Given the description of an element on the screen output the (x, y) to click on. 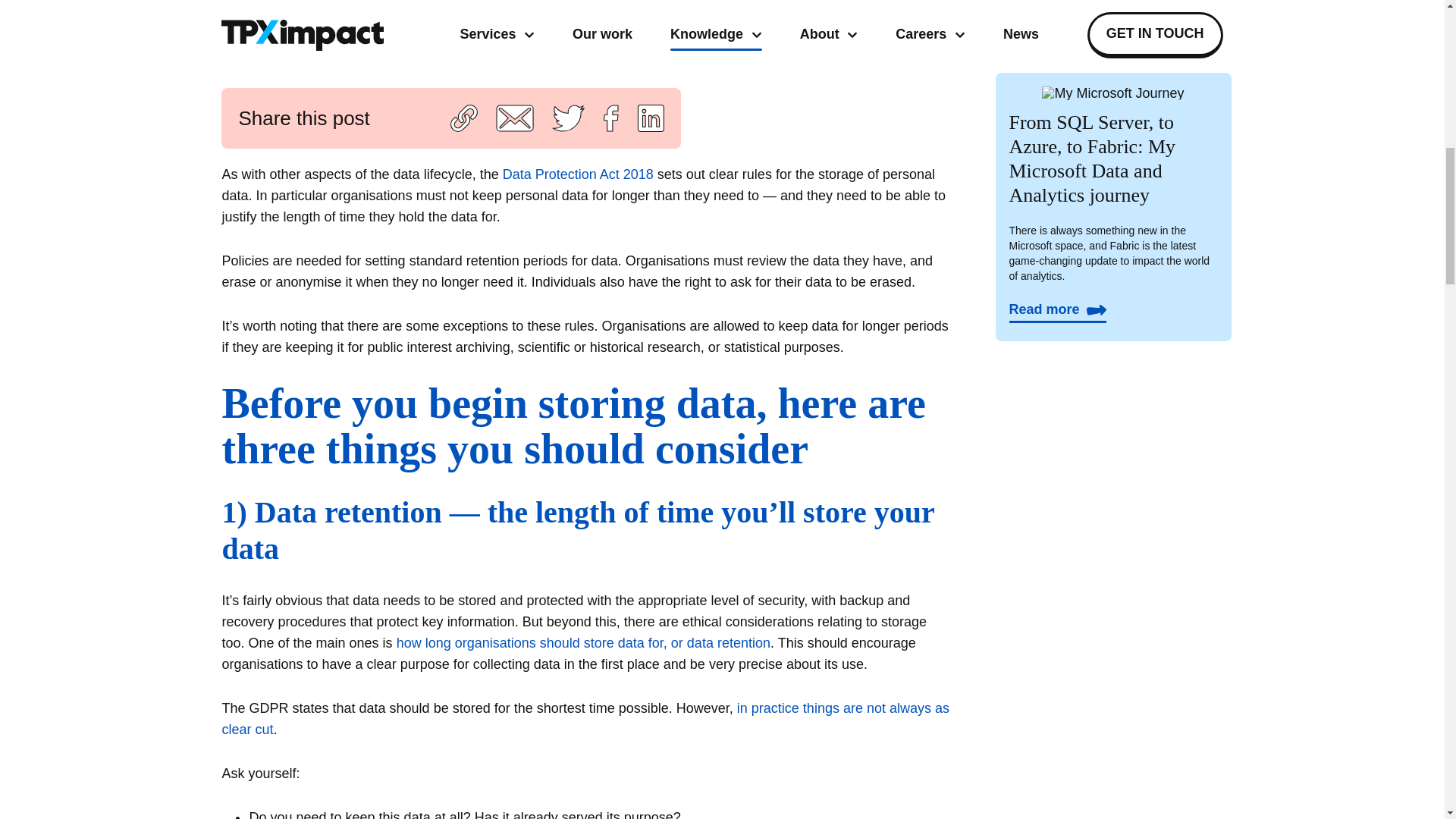
Read more (1057, 309)
Data Protection Act 2018 (577, 174)
in practice things are not always as clear cut (585, 719)
